Given the description of an element on the screen output the (x, y) to click on. 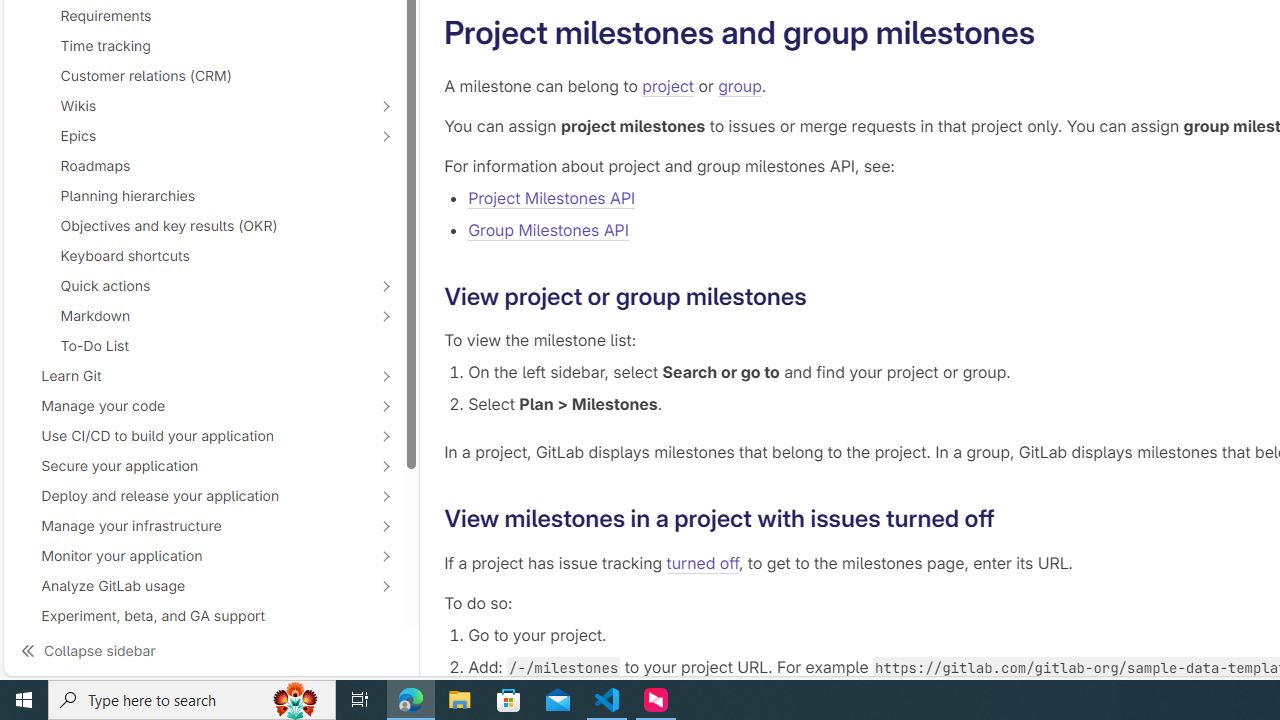
Roadmaps (203, 165)
group (739, 85)
GitLab Duo (192, 678)
Requirements (203, 15)
Manage your code (192, 405)
Objectives and key results (OKR) (203, 225)
Project Milestones API (552, 197)
Analyze GitLab usage (192, 585)
Planning hierarchies (203, 195)
Wikis (192, 105)
Secure your application (192, 465)
Quick actions (192, 285)
Manage your infrastructure (192, 525)
Monitor your application (192, 555)
Experiment, beta, and GA support (203, 615)
